Given the description of an element on the screen output the (x, y) to click on. 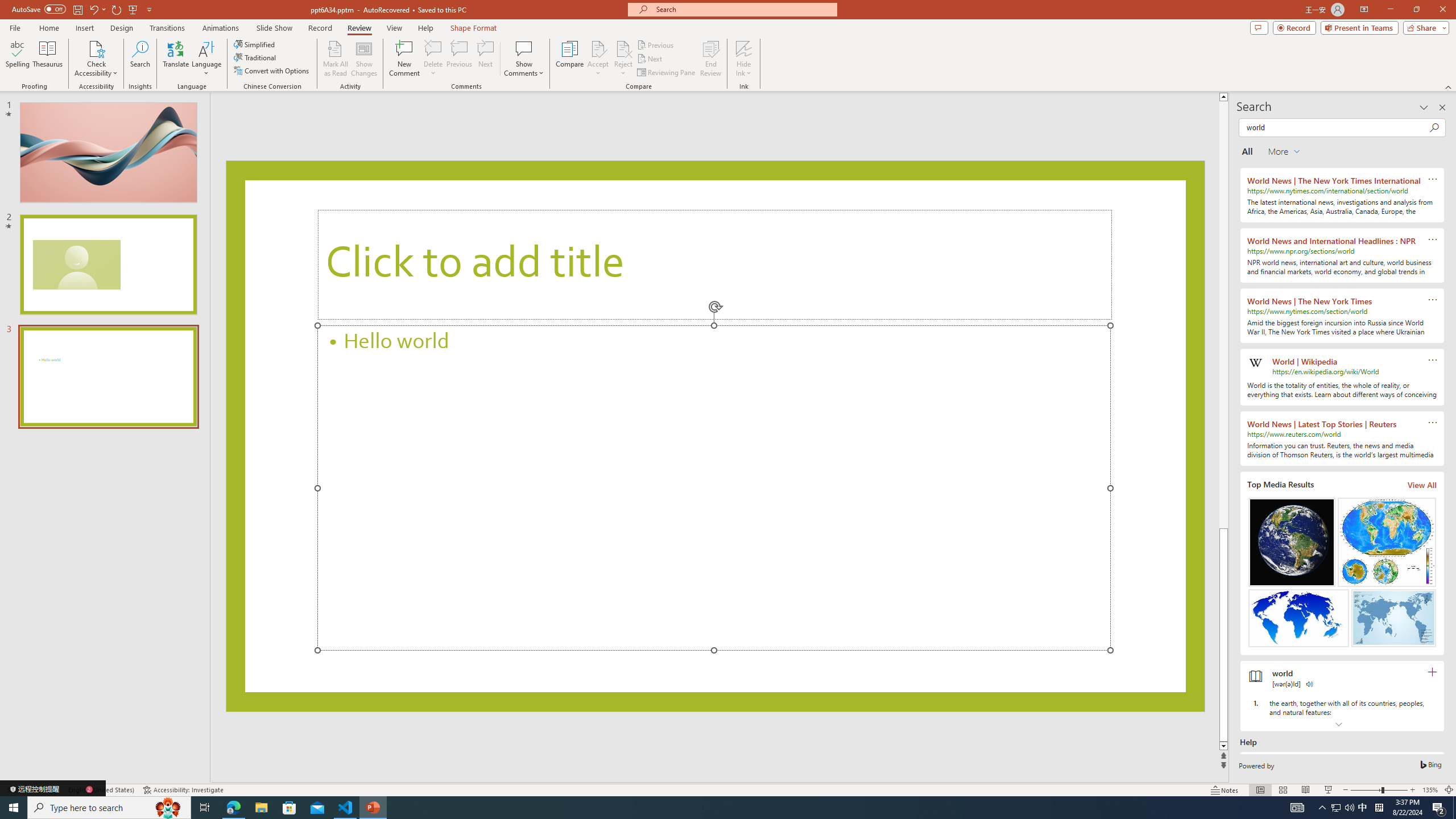
Compare (569, 58)
Simplified (254, 44)
